Given the description of an element on the screen output the (x, y) to click on. 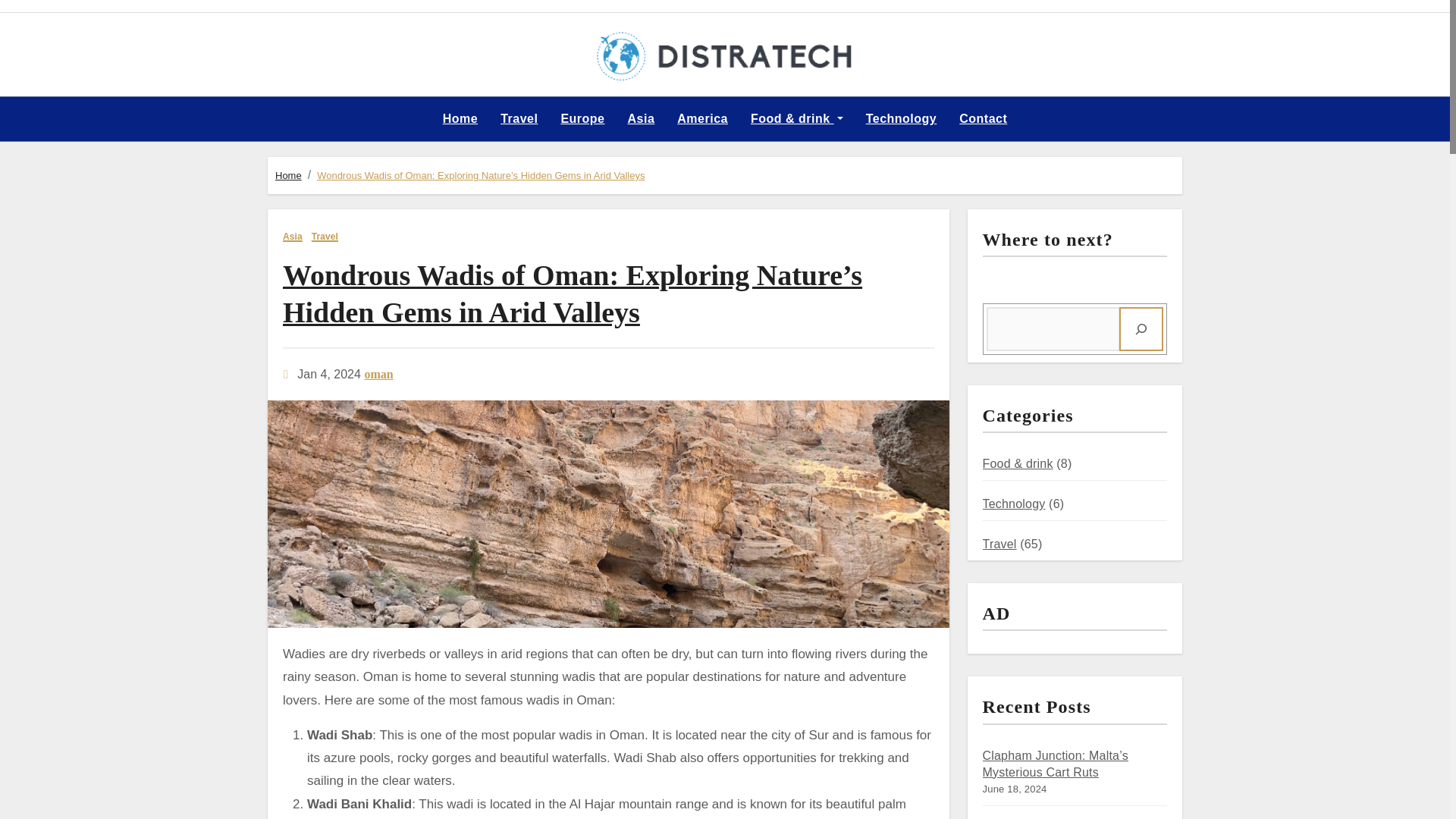
Travel (324, 236)
Home (459, 118)
Technology (901, 118)
Contact (982, 118)
Asia (292, 236)
Asia (640, 118)
Europe (581, 118)
Technology (901, 118)
Home (288, 174)
Home (459, 118)
